Given the description of an element on the screen output the (x, y) to click on. 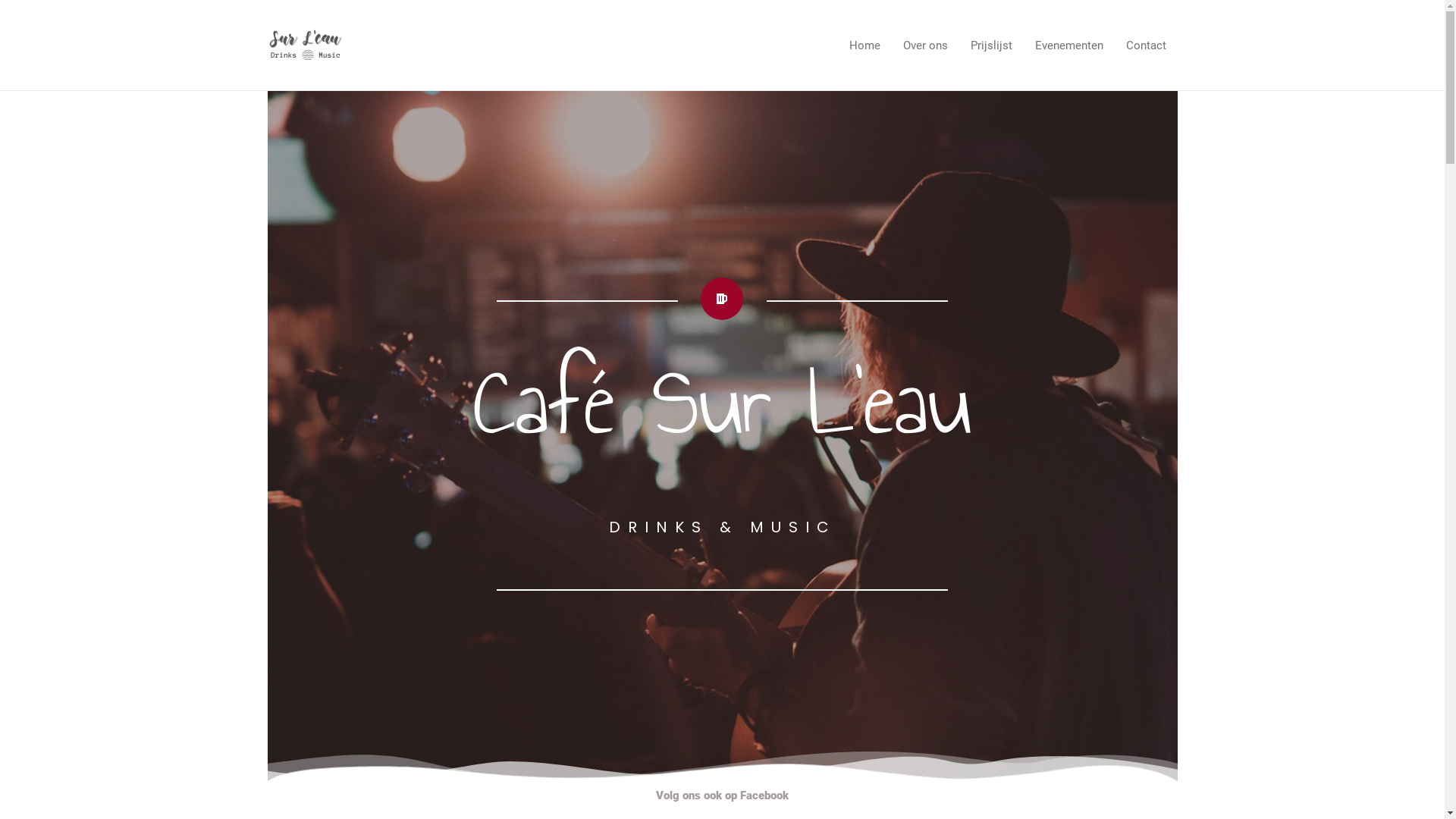
Prijslijst Element type: text (990, 44)
Evenementen Element type: text (1068, 44)
Over ons Element type: text (925, 44)
Contact Element type: text (1145, 44)
Home Element type: text (864, 44)
